Given the description of an element on the screen output the (x, y) to click on. 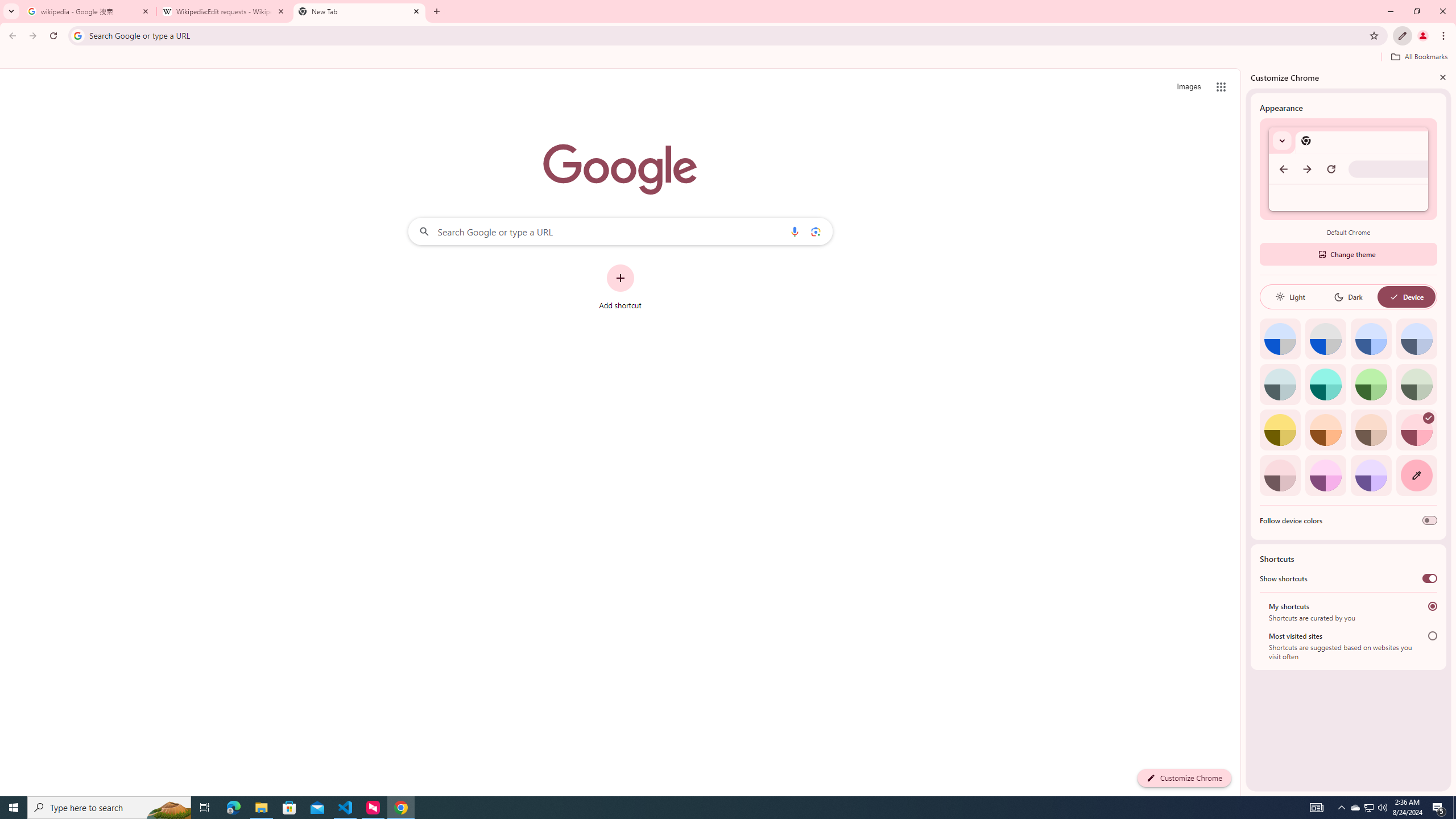
Dark (1348, 296)
Pink (1279, 475)
Blue (1371, 338)
Citron (1279, 429)
Orange (1325, 429)
Follow device colors (1429, 519)
Custom color (1416, 475)
AutomationID: svg (1428, 417)
Default color (1279, 338)
Light (1289, 296)
Show shortcuts (1429, 578)
